Given the description of an element on the screen output the (x, y) to click on. 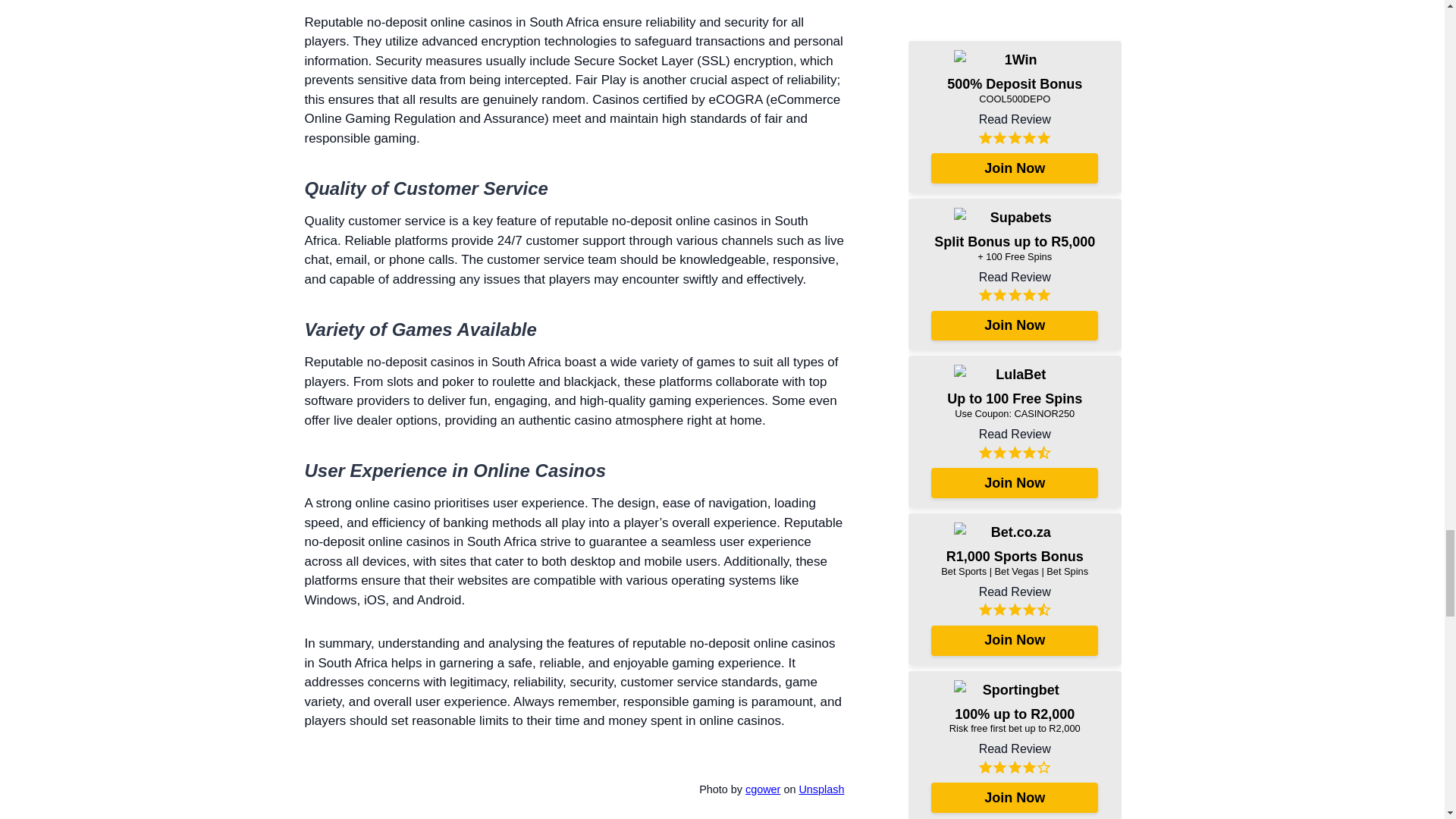
Unsplash (820, 788)
cgower (762, 788)
